Given the description of an element on the screen output the (x, y) to click on. 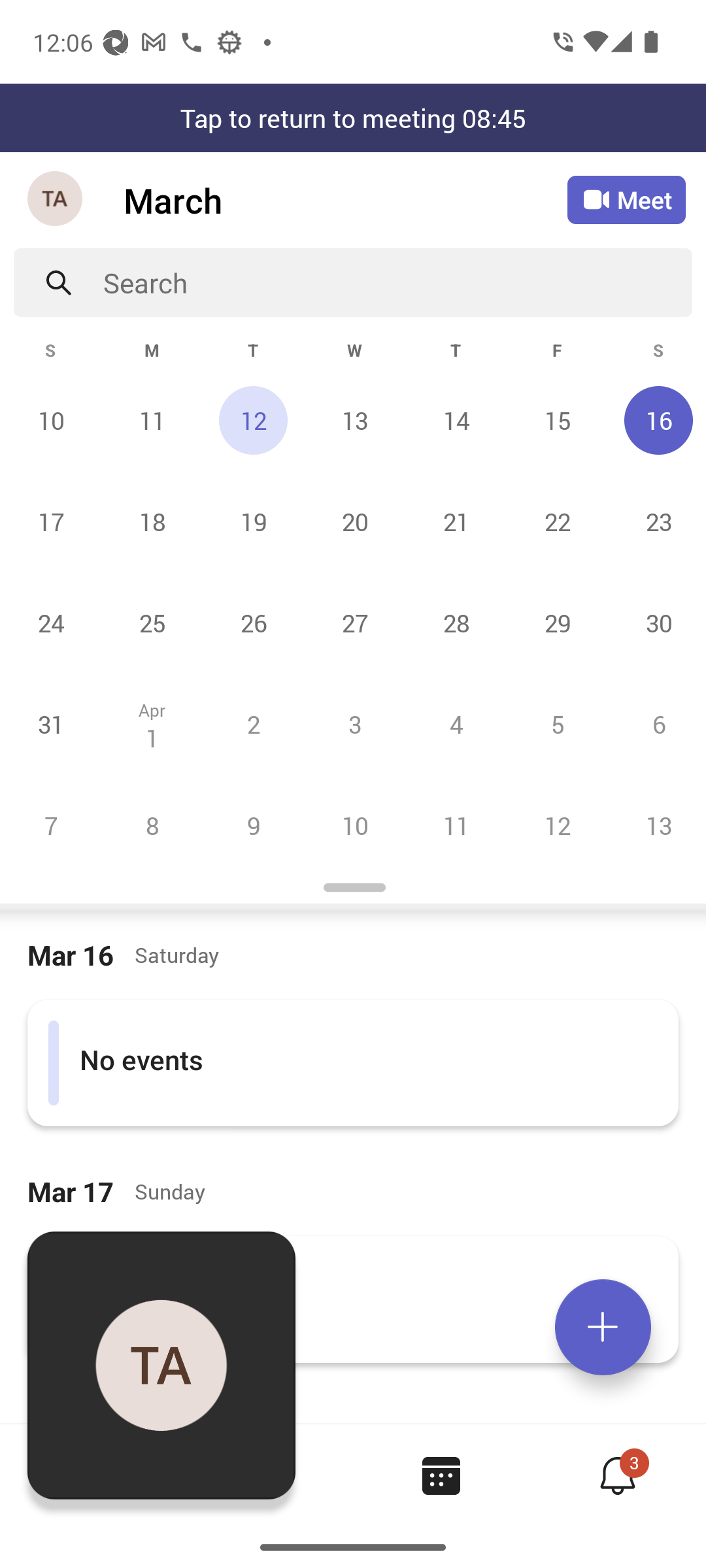
Tap to return to meeting 08:45 (353, 117)
Navigation (56, 199)
Meet Meet now or join with an ID (626, 199)
Search (397, 281)
Sunday, March 10 10 (50, 420)
Monday, March 11 11 (151, 420)
Tuesday, March 12, Today 12 (253, 420)
Wednesday, March 13 13 (354, 420)
Thursday, March 14 14 (455, 420)
Friday, March 15 15 (556, 420)
Saturday, March 16, Selected 16 (656, 420)
Sunday, March 17 17 (50, 521)
Monday, March 18 18 (151, 521)
Tuesday, March 19 19 (253, 521)
Wednesday, March 20 20 (354, 521)
Thursday, March 21 21 (455, 521)
Friday, March 22 22 (556, 521)
Saturday, March 23 23 (656, 521)
Sunday, March 24 24 (50, 623)
Monday, March 25 25 (151, 623)
Tuesday, March 26 26 (253, 623)
Wednesday, March 27 27 (354, 623)
Thursday, March 28 28 (455, 623)
Friday, March 29 29 (556, 623)
Saturday, March 30 30 (656, 623)
Sunday, March 31 31 (50, 724)
Monday, April 1 Apr 1 (151, 724)
Tuesday, April 2 2 (253, 724)
Wednesday, April 3 3 (354, 724)
Thursday, April 4 4 (455, 724)
Friday, April 5 5 (556, 724)
Saturday, April 6 6 (656, 724)
Sunday, April 7 7 (50, 825)
Monday, April 8 8 (151, 825)
Tuesday, April 9 9 (253, 825)
Wednesday, April 10 10 (354, 825)
Thursday, April 11 11 (455, 825)
Friday, April 12 12 (556, 825)
Saturday, April 13 13 (656, 825)
Expand meetings menu (602, 1327)
Calendar tab, 3 of 4 (441, 1475)
Activity tab,4 of 4, not selected, 3 new 3 (617, 1475)
